Given the description of an element on the screen output the (x, y) to click on. 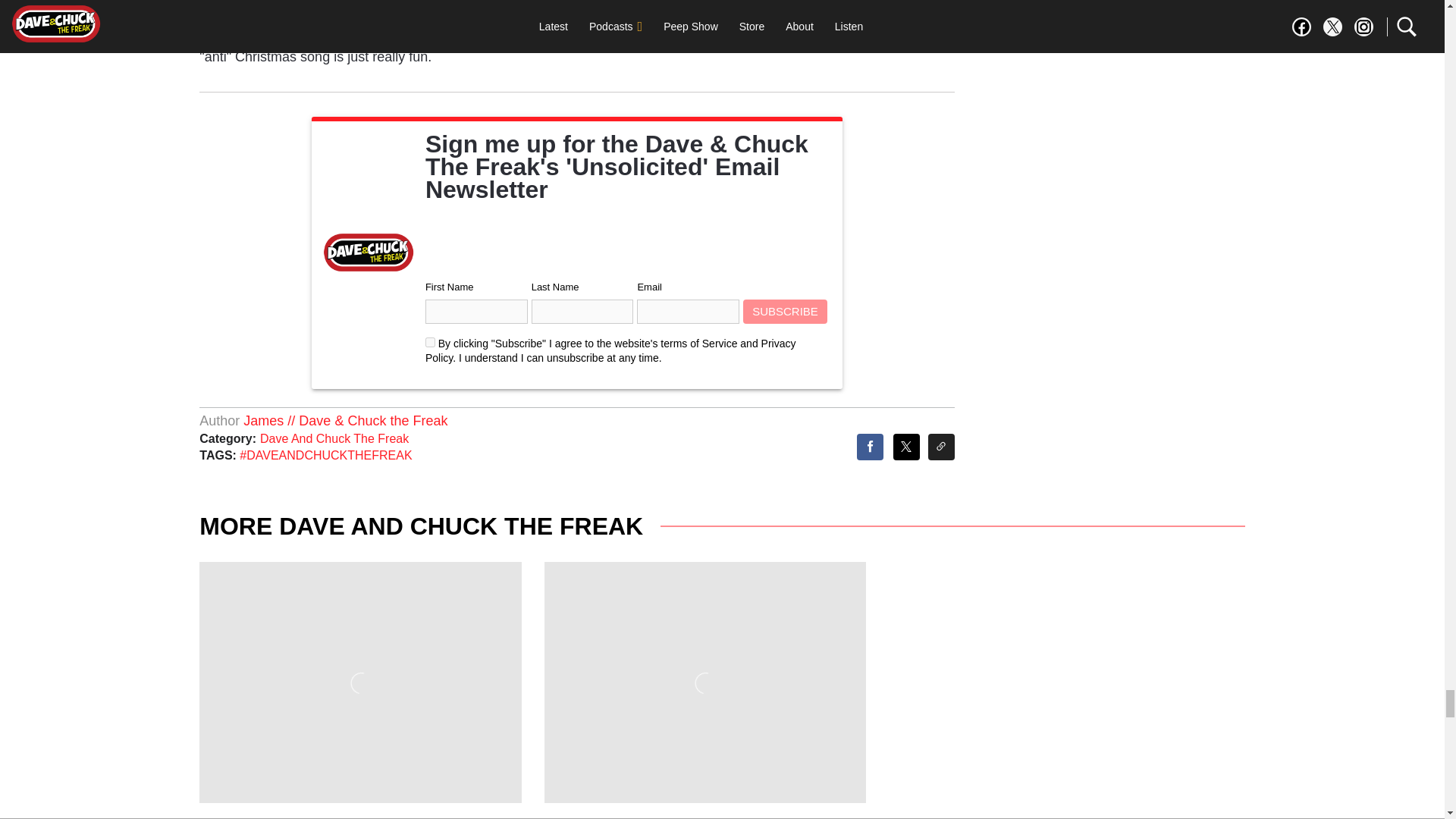
on (430, 342)
